Given the description of an element on the screen output the (x, y) to click on. 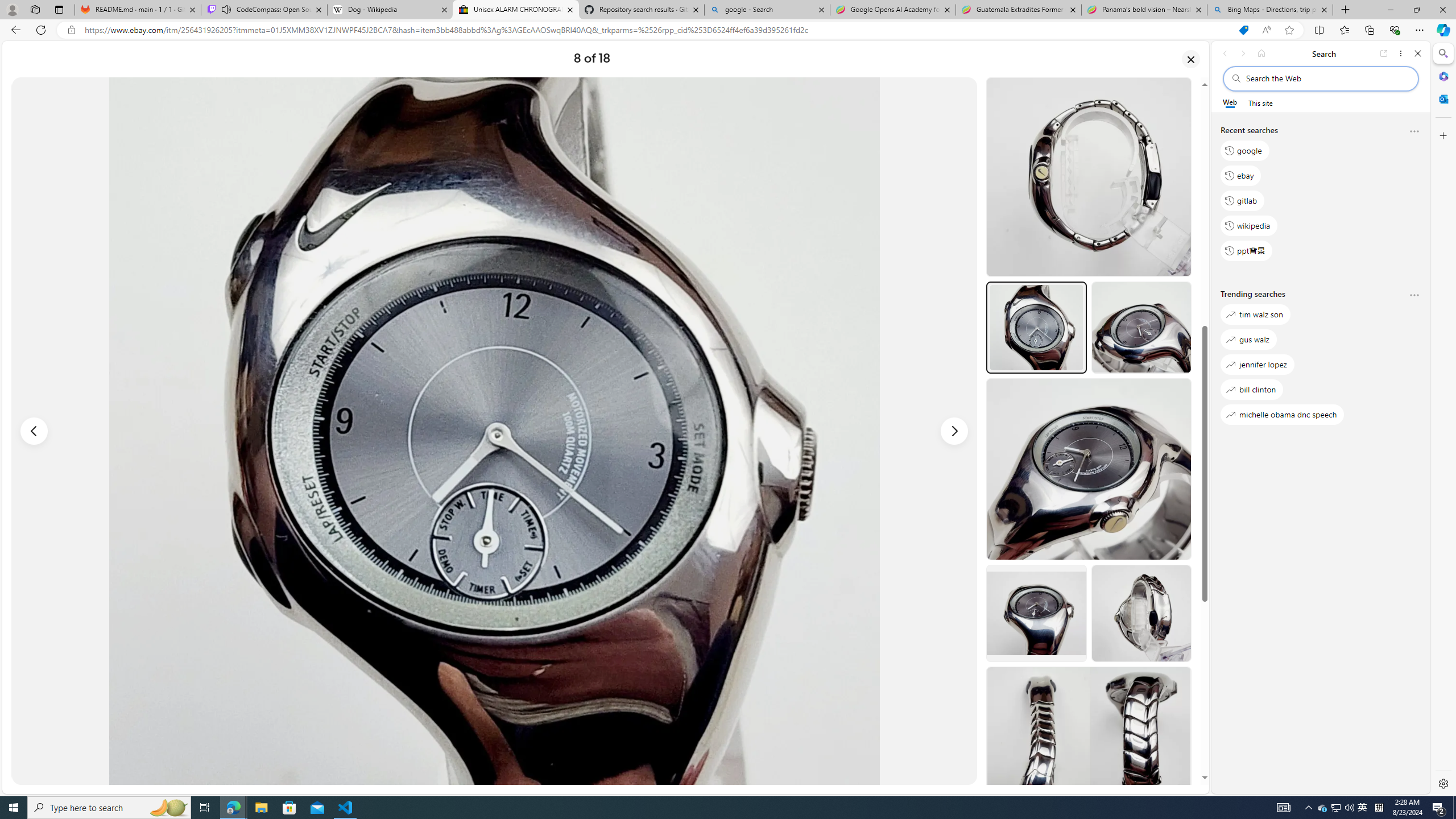
gitlab (1242, 200)
jennifer lopez (1257, 364)
michelle obama dnc speech (1281, 414)
